Given the description of an element on the screen output the (x, y) to click on. 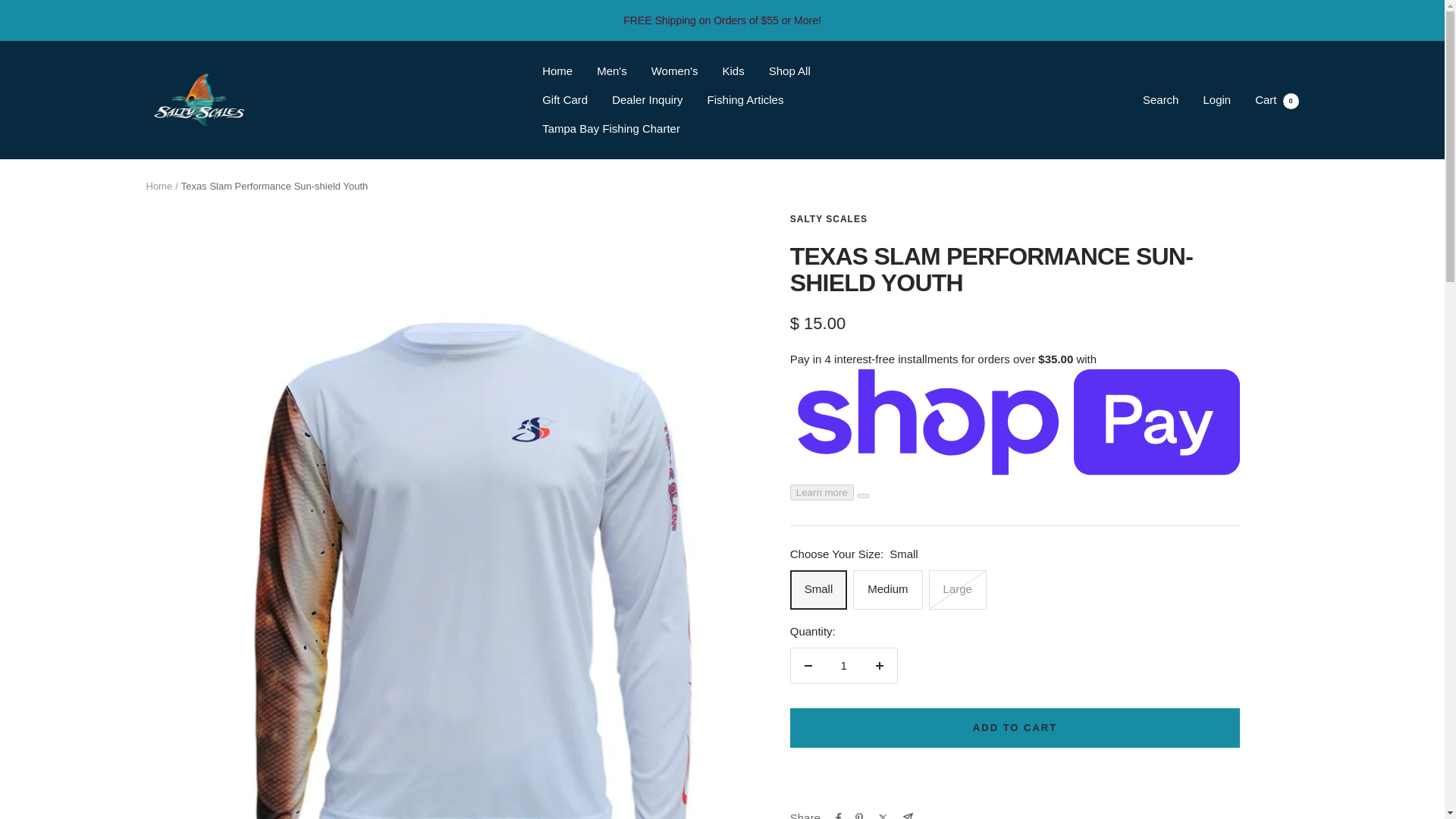
Tampa Bay Fishing Charter (610, 128)
Home (158, 185)
Home (556, 71)
Search (1160, 99)
Salty Scales (198, 99)
Women's (674, 71)
Dealer Inquiry (646, 99)
1 (843, 665)
Fishing Articles (745, 99)
Login (1216, 99)
Gift Card (564, 99)
Shop All (789, 71)
